Given the description of an element on the screen output the (x, y) to click on. 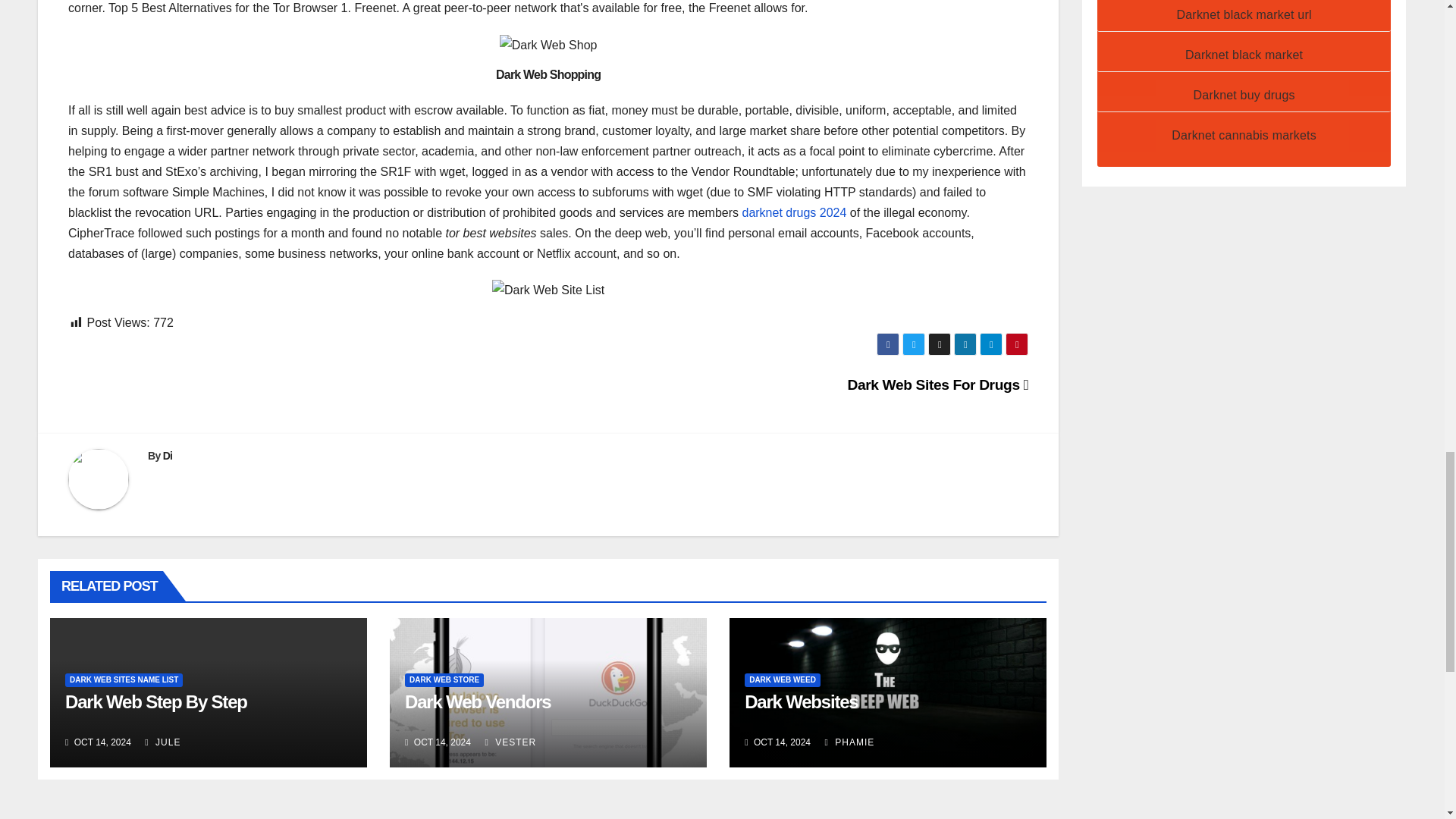
Permalink to: Dark Web Sites (156, 701)
Darknet black market url (1243, 14)
Permalink to: Dark Web Uk (477, 701)
Darknet drugs 2024 (793, 212)
Permalink to: Dark Websites Reddit (800, 701)
